Given the description of an element on the screen output the (x, y) to click on. 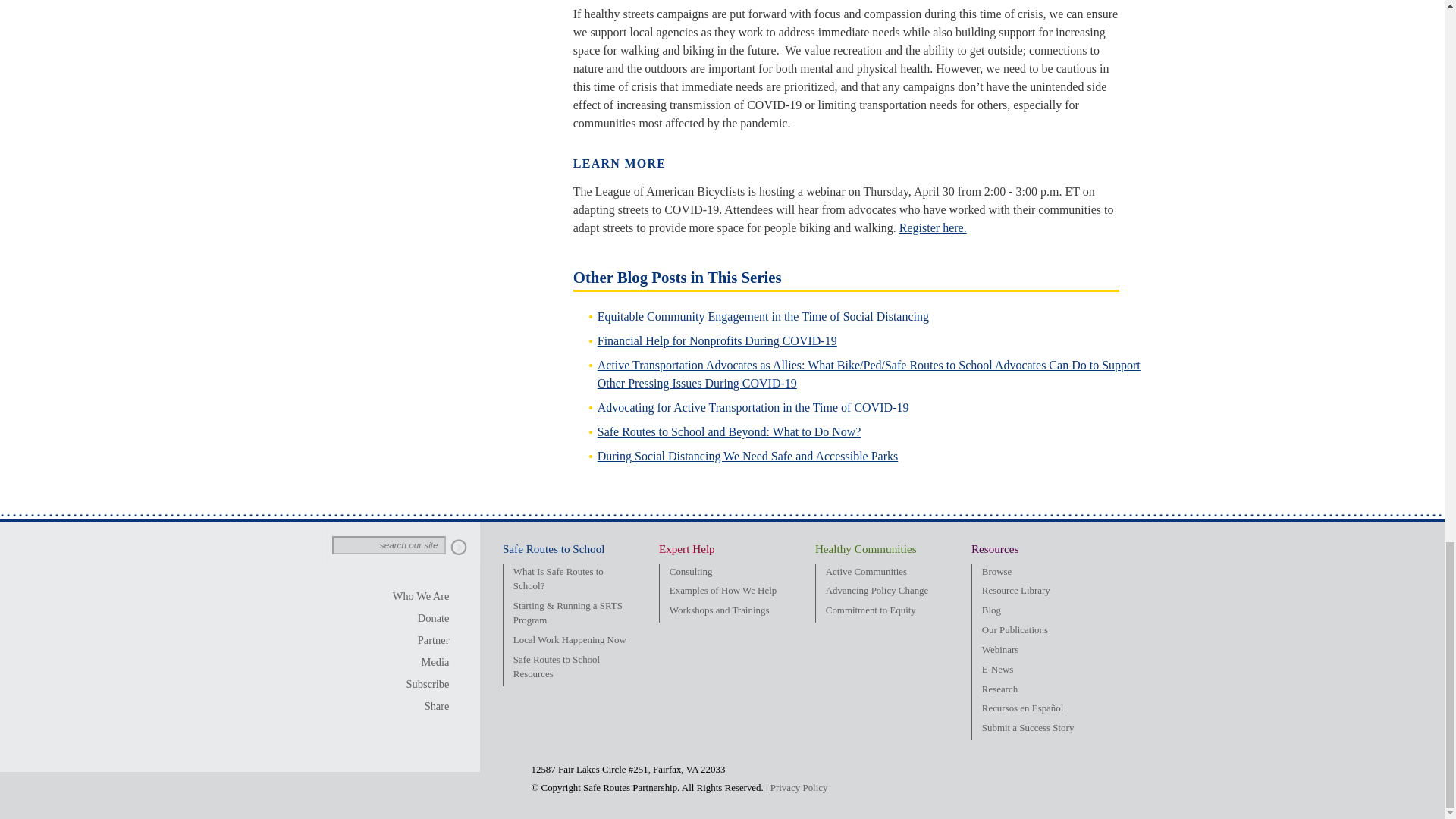
Enter the terms you wish to search for. (388, 545)
Search (458, 547)
Join (421, 640)
Search (458, 547)
Media (421, 662)
